Given the description of an element on the screen output the (x, y) to click on. 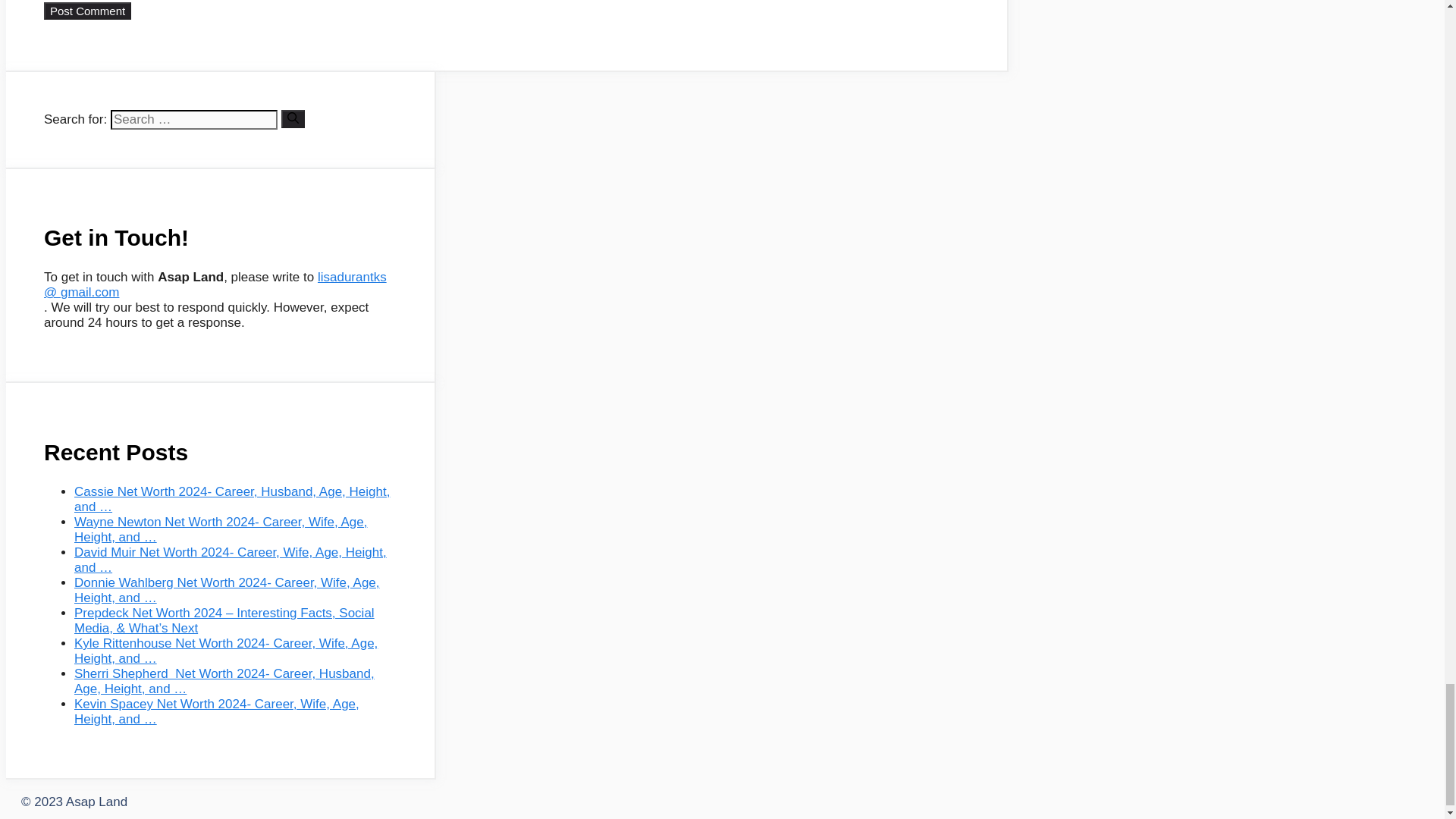
Post Comment (87, 10)
Post Comment (87, 10)
Search for: (194, 119)
